Given the description of an element on the screen output the (x, y) to click on. 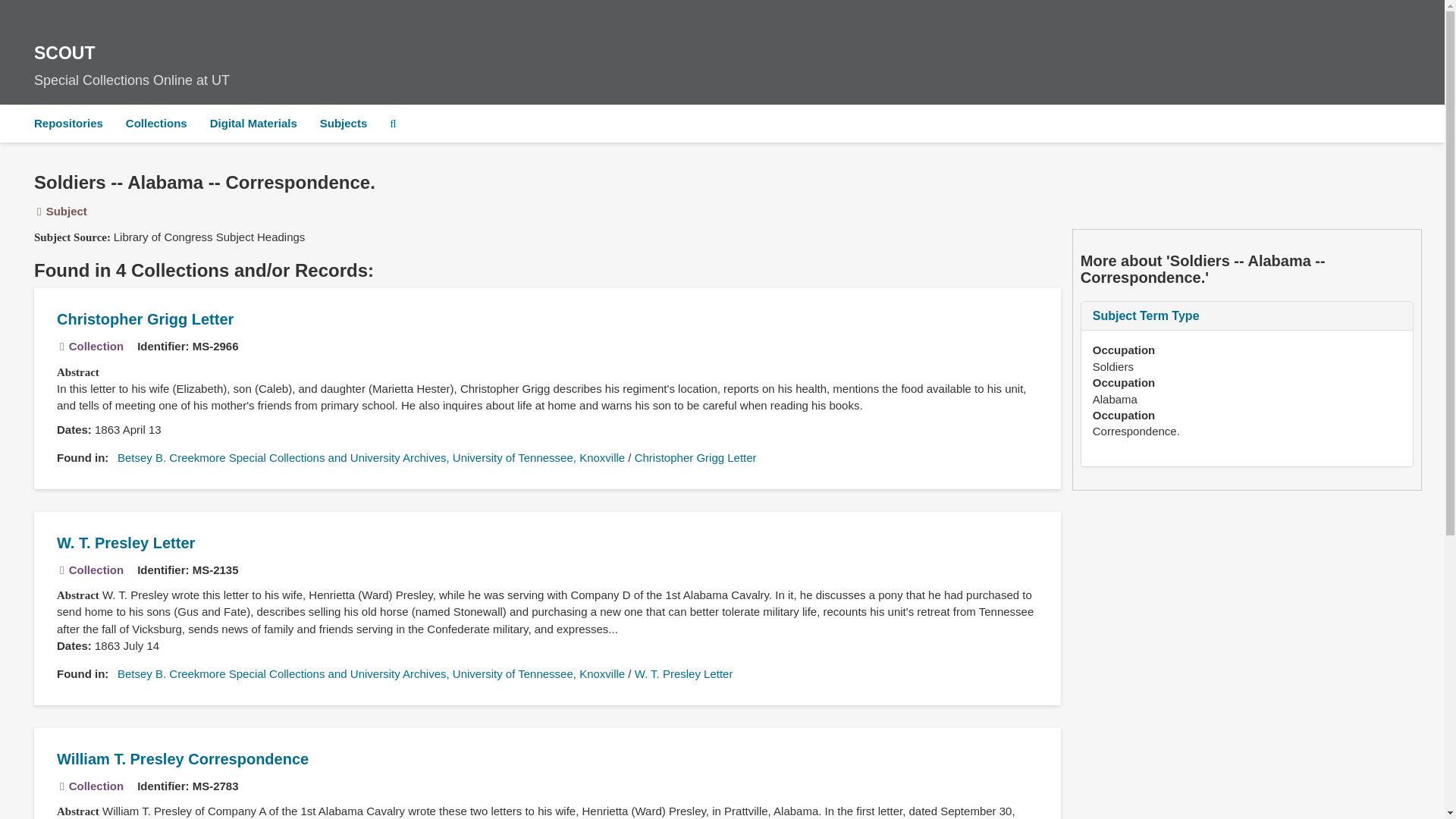
Collections (156, 123)
Subjects (721, 61)
W. T. Presley Letter (343, 123)
William T. Presley Correspondence (125, 542)
Christopher Grigg Letter (182, 759)
W. T. Presley Letter (695, 457)
translation missing: en.dates (683, 673)
Subject Term Type (71, 429)
translation missing: en.dates (1146, 315)
Page Actions (71, 645)
Repositories (1130, 166)
Digital Materials (69, 123)
